Given the description of an element on the screen output the (x, y) to click on. 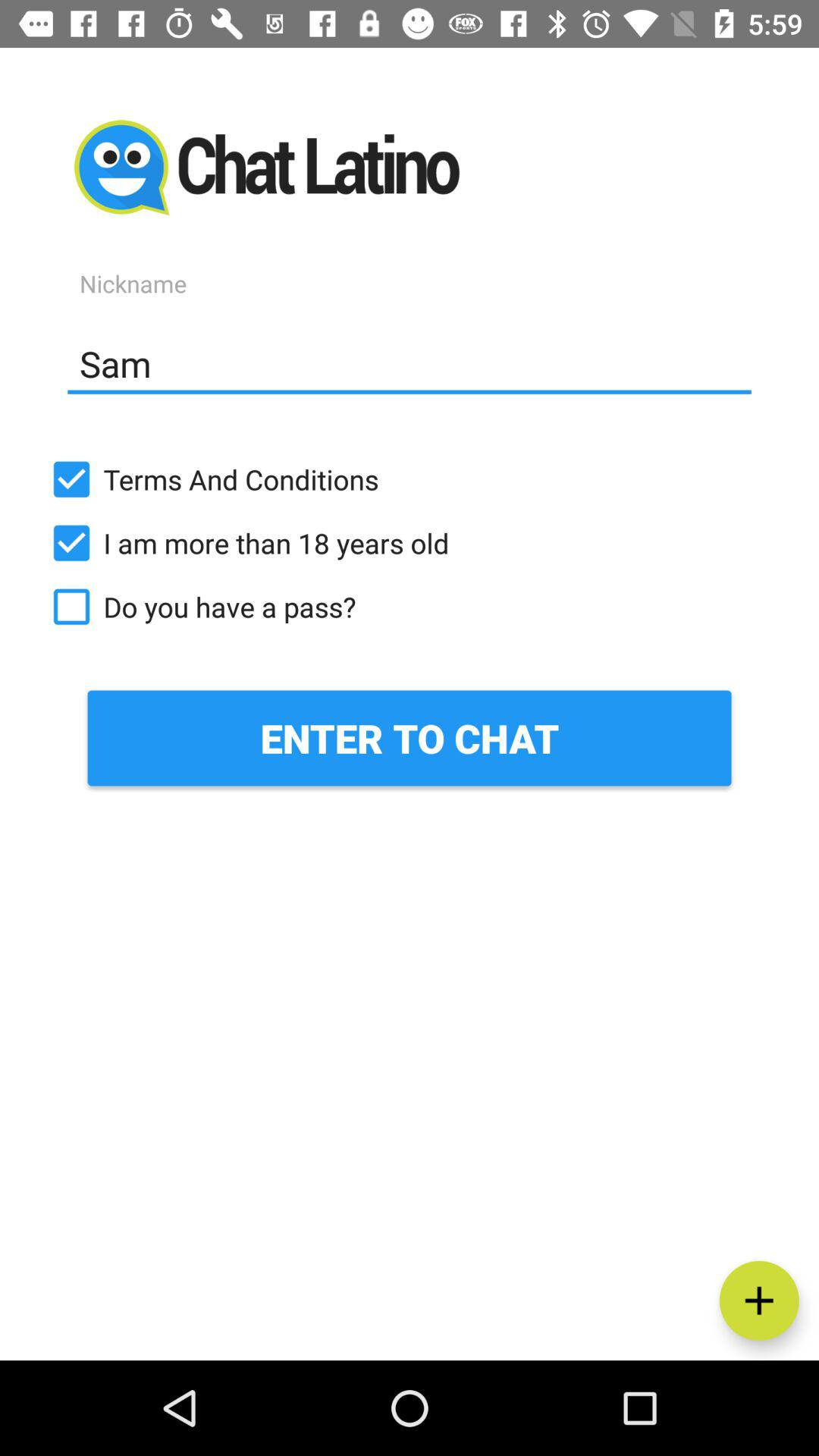
launch the enter to chat item (409, 737)
